Given the description of an element on the screen output the (x, y) to click on. 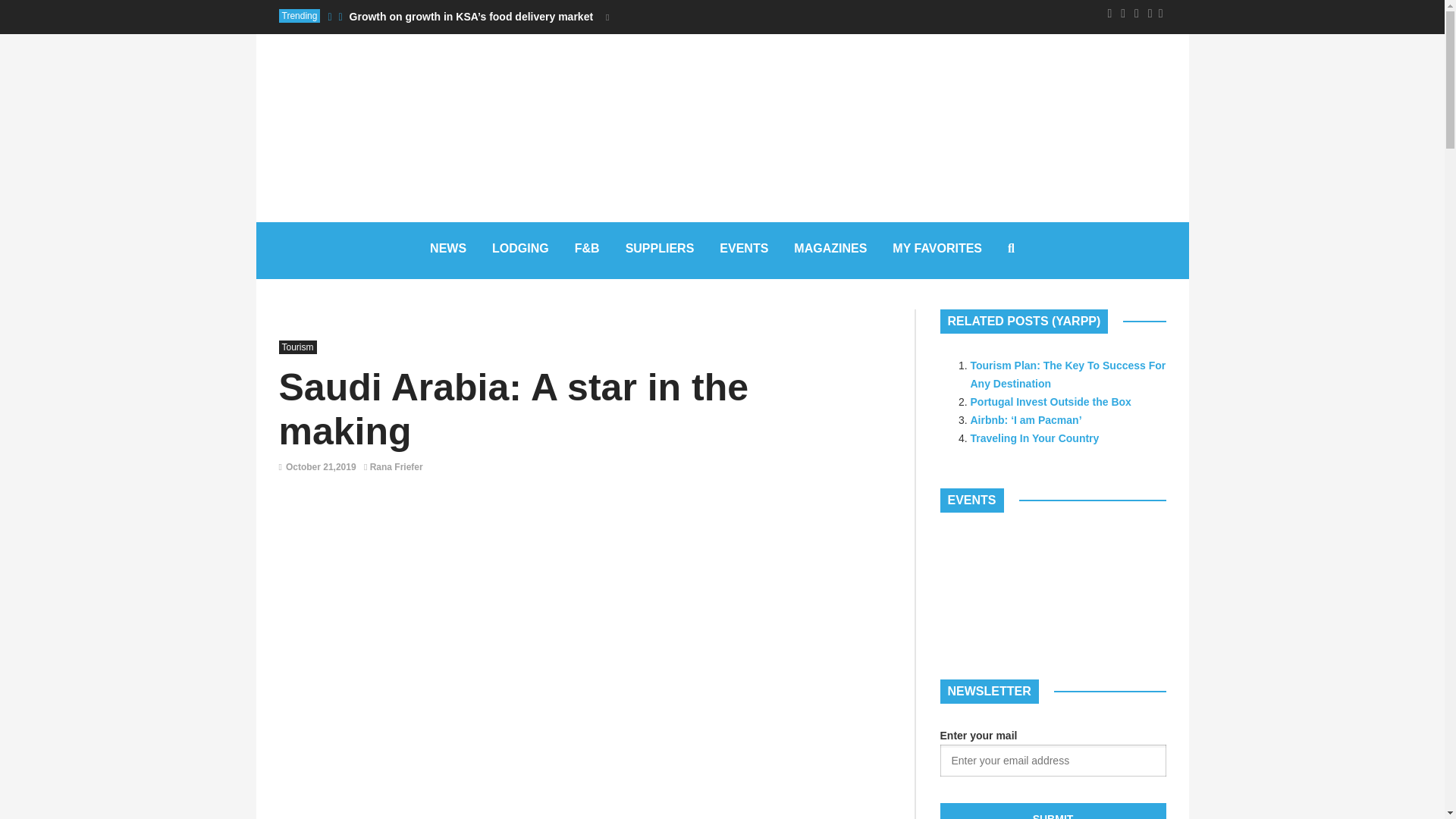
Search (701, 378)
Trending (299, 15)
News (447, 250)
Submit (1053, 811)
Lodging (520, 250)
